Given the description of an element on the screen output the (x, y) to click on. 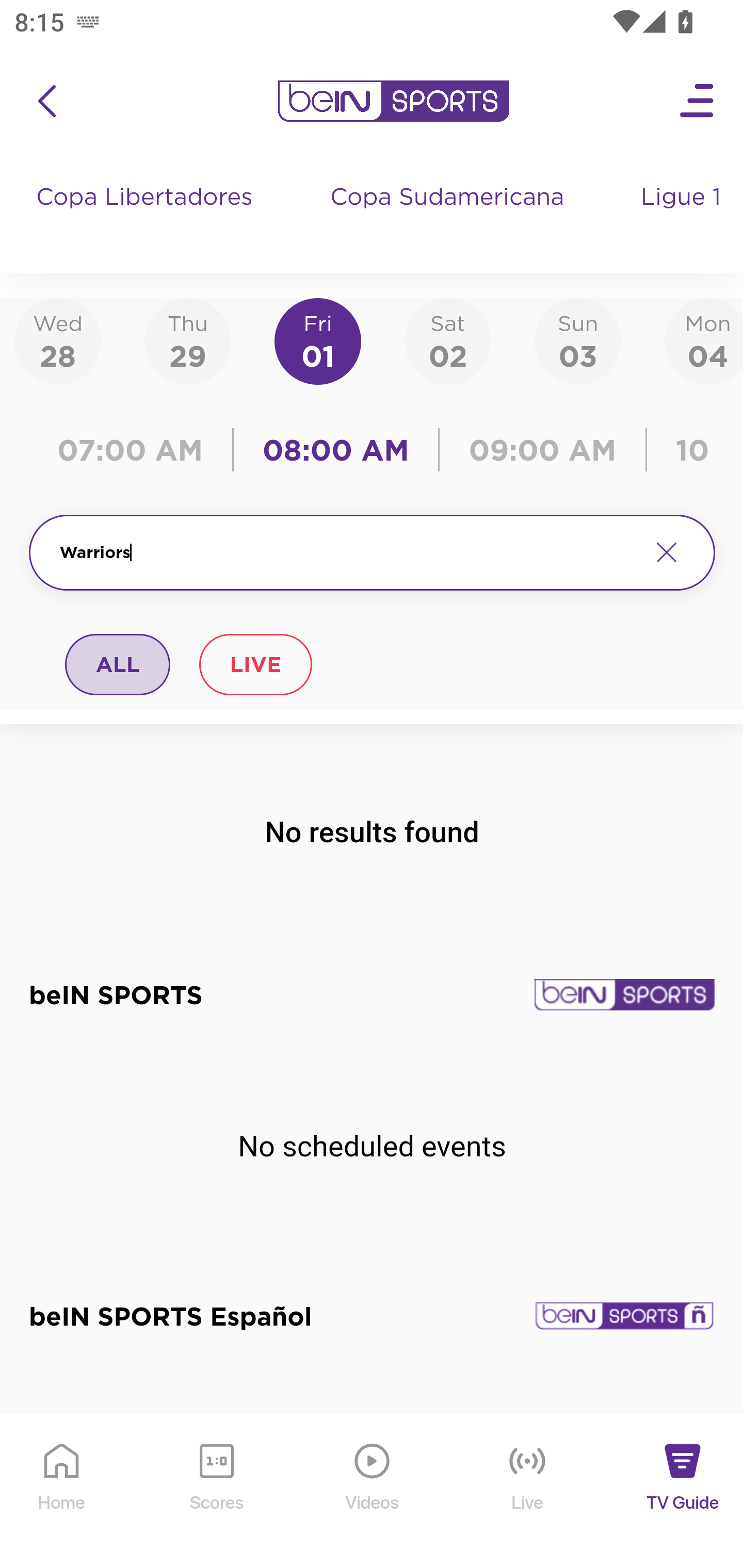
en-us?platform=mobile_android bein logo (392, 101)
icon back (46, 101)
Open Menu Icon (697, 101)
Copa Libertadores (146, 216)
Copa Sudamericana (448, 216)
Ligue 1 (682, 216)
Wed28 (58, 340)
Thu29 (187, 340)
Fri01 (318, 340)
Sat02 (447, 340)
Sun03 (578, 340)
Mon04 (703, 340)
07:00 AM (135, 449)
08:00 AM (336, 449)
09:00 AM (542, 449)
Warriors (346, 552)
ALL (118, 663)
LIVE (255, 663)
Home Home Icon Home (61, 1491)
Scores Scores Icon Scores (216, 1491)
Videos Videos Icon Videos (372, 1491)
TV Guide TV Guide Icon TV Guide (682, 1491)
